Given the description of an element on the screen output the (x, y) to click on. 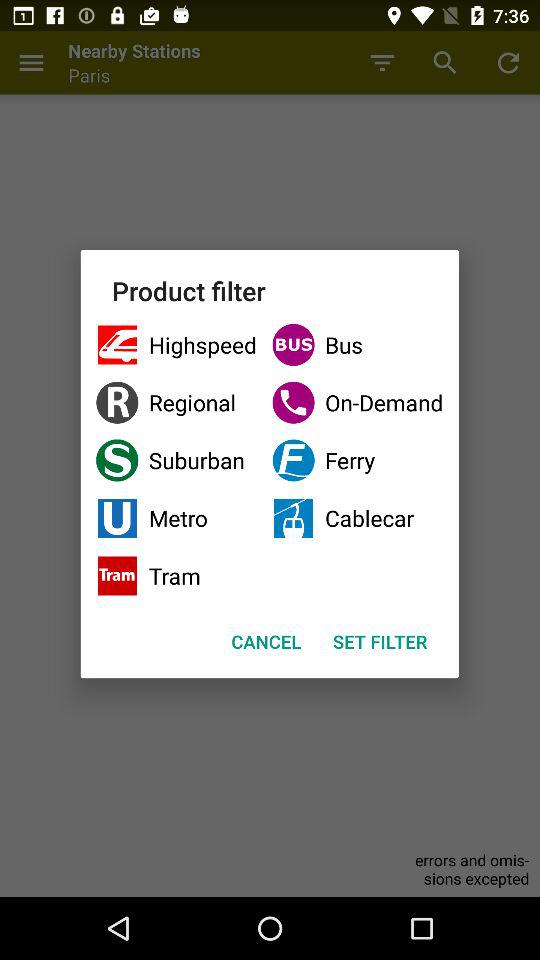
swipe until the cablecar icon (357, 518)
